Given the description of an element on the screen output the (x, y) to click on. 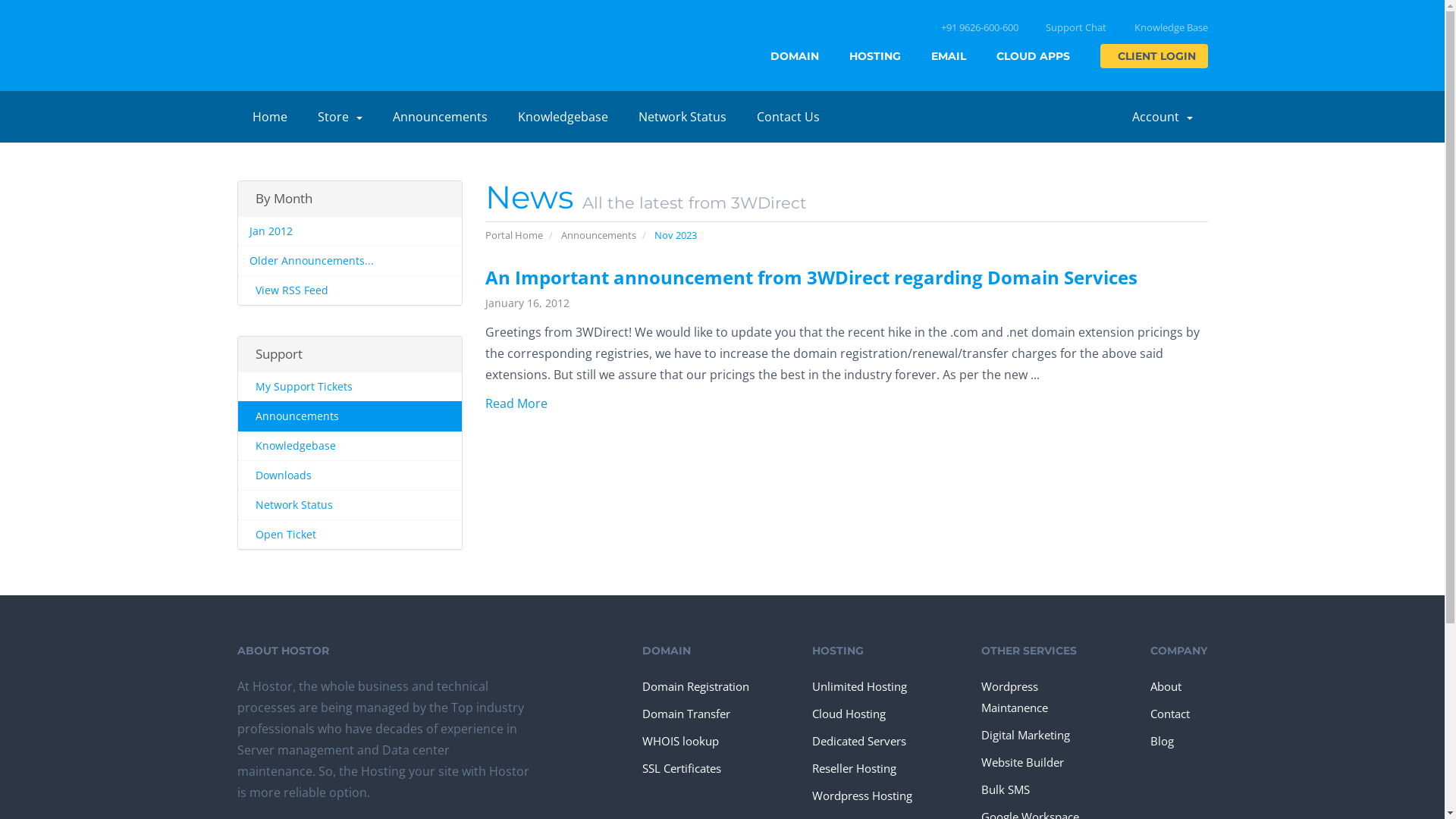
Website Builder Element type: text (1022, 761)
Wordpress Hosting Element type: text (861, 795)
WHOIS lookup Element type: text (680, 740)
Contact Element type: text (1169, 713)
  Open Ticket Element type: text (350, 534)
Store   Element type: text (338, 116)
Home Element type: text (268, 116)
  Knowledgebase Element type: text (350, 445)
Wordpress Maintanence Element type: text (1038, 696)
Account   Element type: text (1161, 116)
Announcements Element type: text (598, 234)
About Element type: text (1165, 685)
Digital Marketing Element type: text (1025, 734)
HOSTING Element type: text (874, 55)
Blog Element type: text (1161, 740)
Knowledgebase Element type: text (562, 116)
  View RSS Feed Element type: text (350, 289)
Unlimited Hosting Element type: text (859, 685)
CLOUD APPS Element type: text (1033, 55)
  Downloads Element type: text (350, 475)
Portal Home Element type: text (513, 234)
Domain Registration Element type: text (695, 685)
Dedicated Servers Element type: text (858, 740)
+91 9626-600-600 Element type: text (976, 27)
Knowledge Base Element type: text (1168, 27)
Reseller Hosting Element type: text (853, 767)
Announcements Element type: text (439, 116)
  Announcements Element type: text (350, 416)
Jan 2012 Element type: text (350, 231)
Bulk SMS Element type: text (1005, 789)
EMAIL Element type: text (948, 55)
SSL Certificates Element type: text (681, 767)
Read More Element type: text (519, 403)
Older Announcements... Element type: text (350, 260)
Domain Transfer Element type: text (685, 713)
  Network Status Element type: text (350, 504)
Support Chat Element type: text (1073, 27)
CLIENT LOGIN Element type: text (1153, 55)
Network Status Element type: text (682, 116)
  My Support Tickets Element type: text (350, 386)
Cloud Hosting Element type: text (848, 713)
DOMAIN Element type: text (794, 55)
Contact Us Element type: text (787, 116)
